Given the description of an element on the screen output the (x, y) to click on. 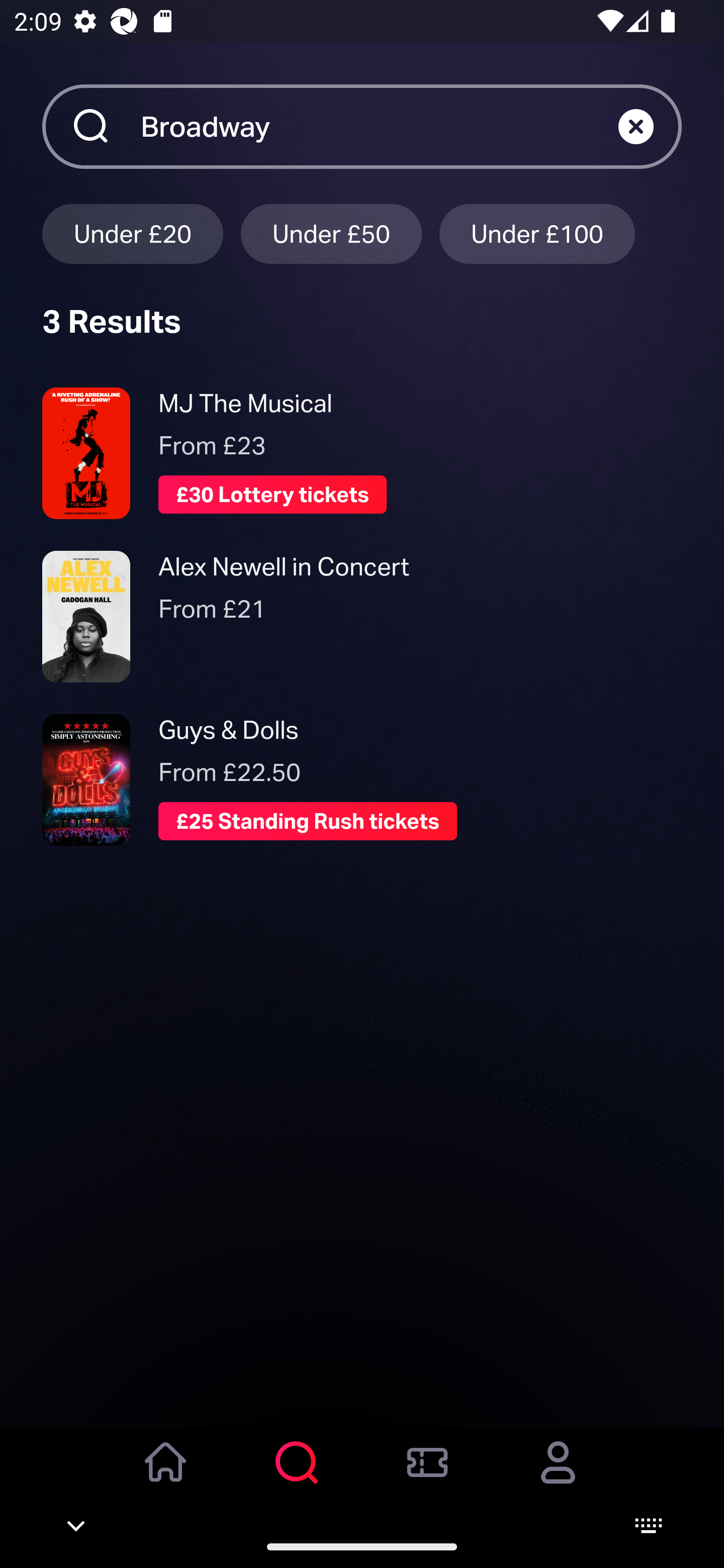
Broadway (379, 126)
Under £20 (131, 233)
Under £50 (331, 233)
Under £100 (536, 233)
Home (165, 1475)
Orders (427, 1475)
Account (558, 1475)
